Given the description of an element on the screen output the (x, y) to click on. 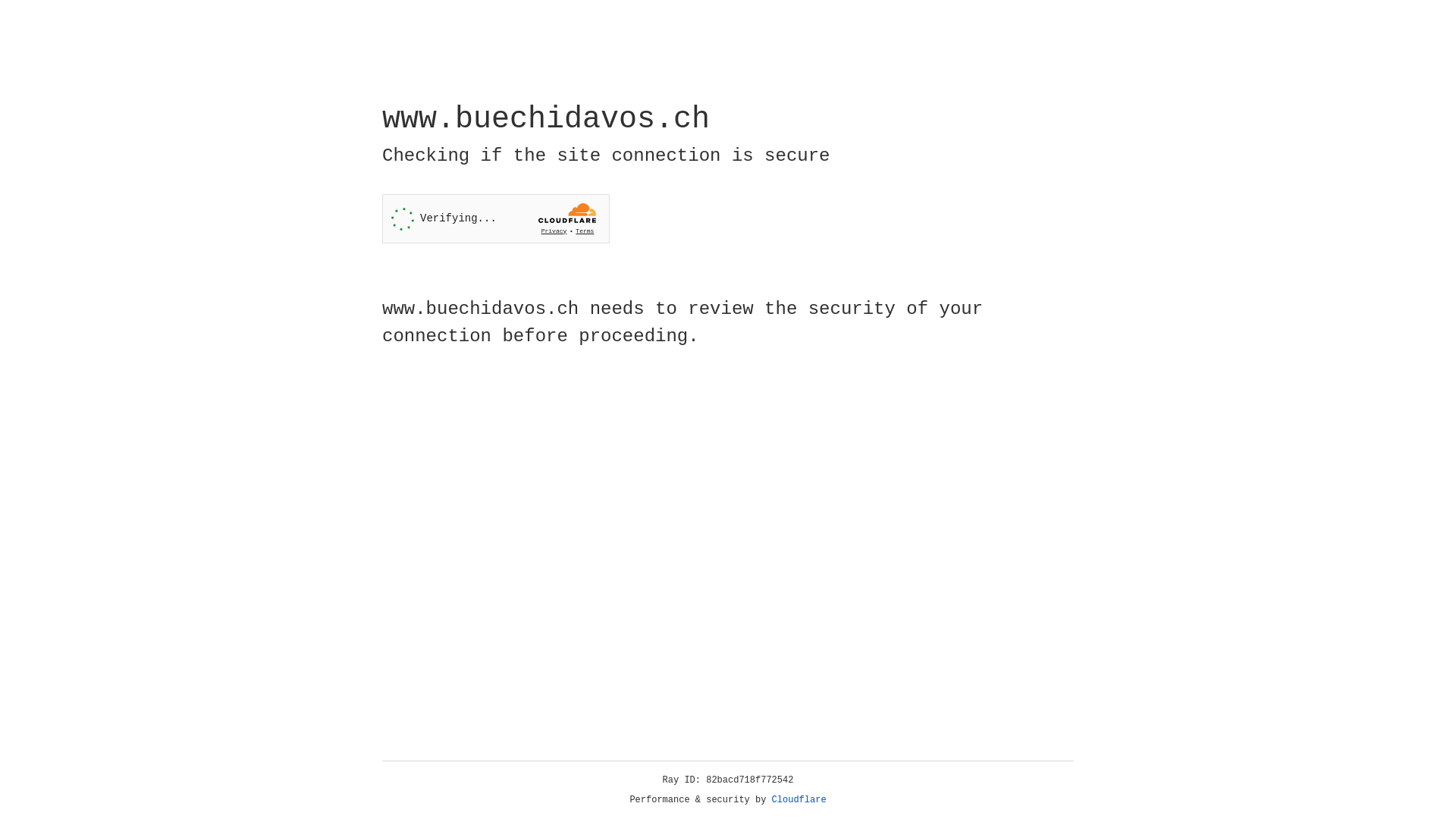
Widget containing a Cloudflare security challenge Element type: hover (495, 218)
Cloudflare Element type: text (798, 799)
